Given the description of an element on the screen output the (x, y) to click on. 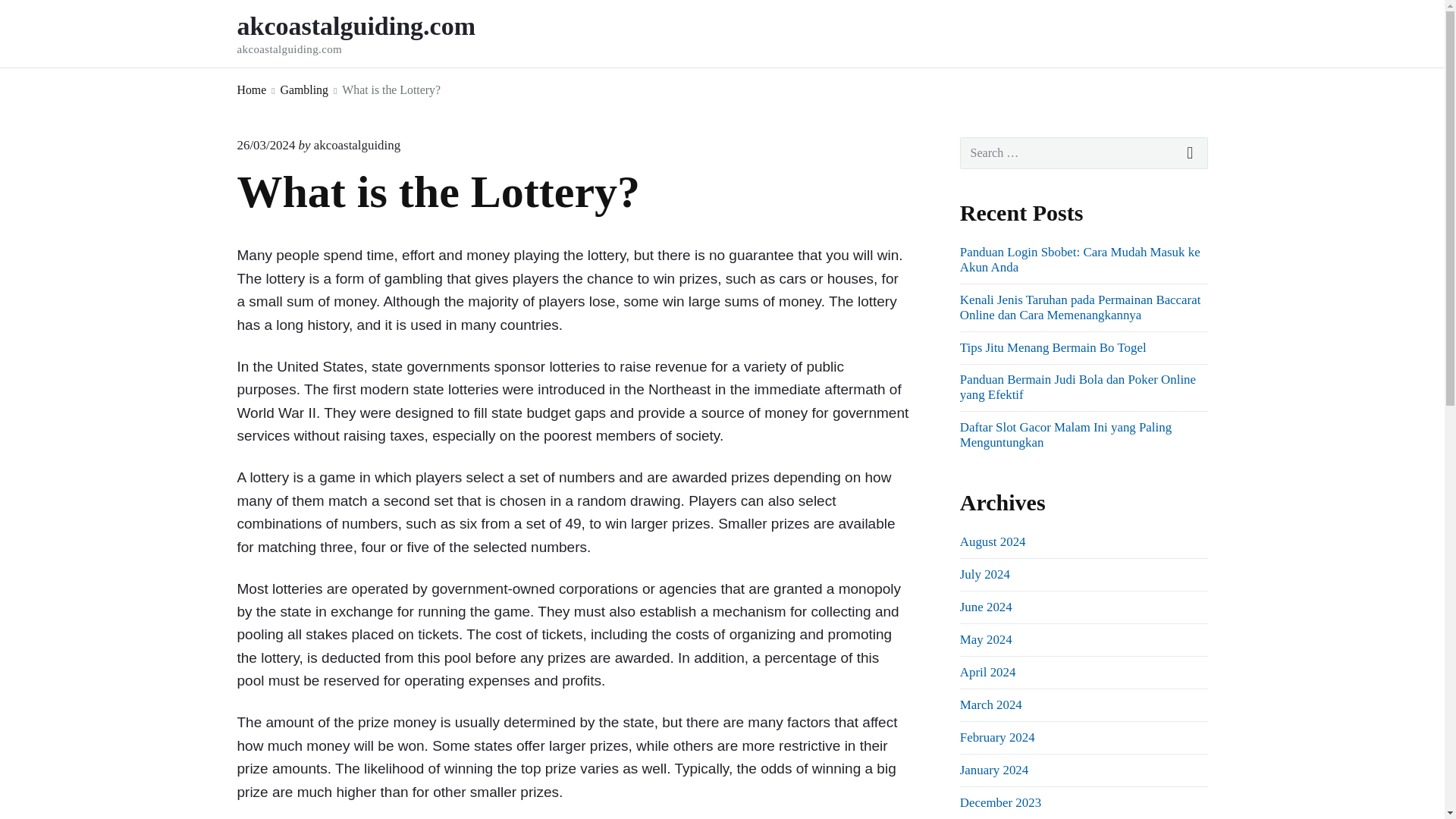
Gambling (305, 89)
Daftar Slot Gacor Malam Ini yang Paling Menguntungkan (1065, 434)
Tips Jitu Menang Bermain Bo Togel (1053, 347)
April 2024 (987, 672)
January 2024 (993, 769)
August 2024 (992, 541)
March 2024 (990, 704)
June 2024 (985, 606)
Tuesday, March 26, 2024, 8:08 am (375, 33)
